Given the description of an element on the screen output the (x, y) to click on. 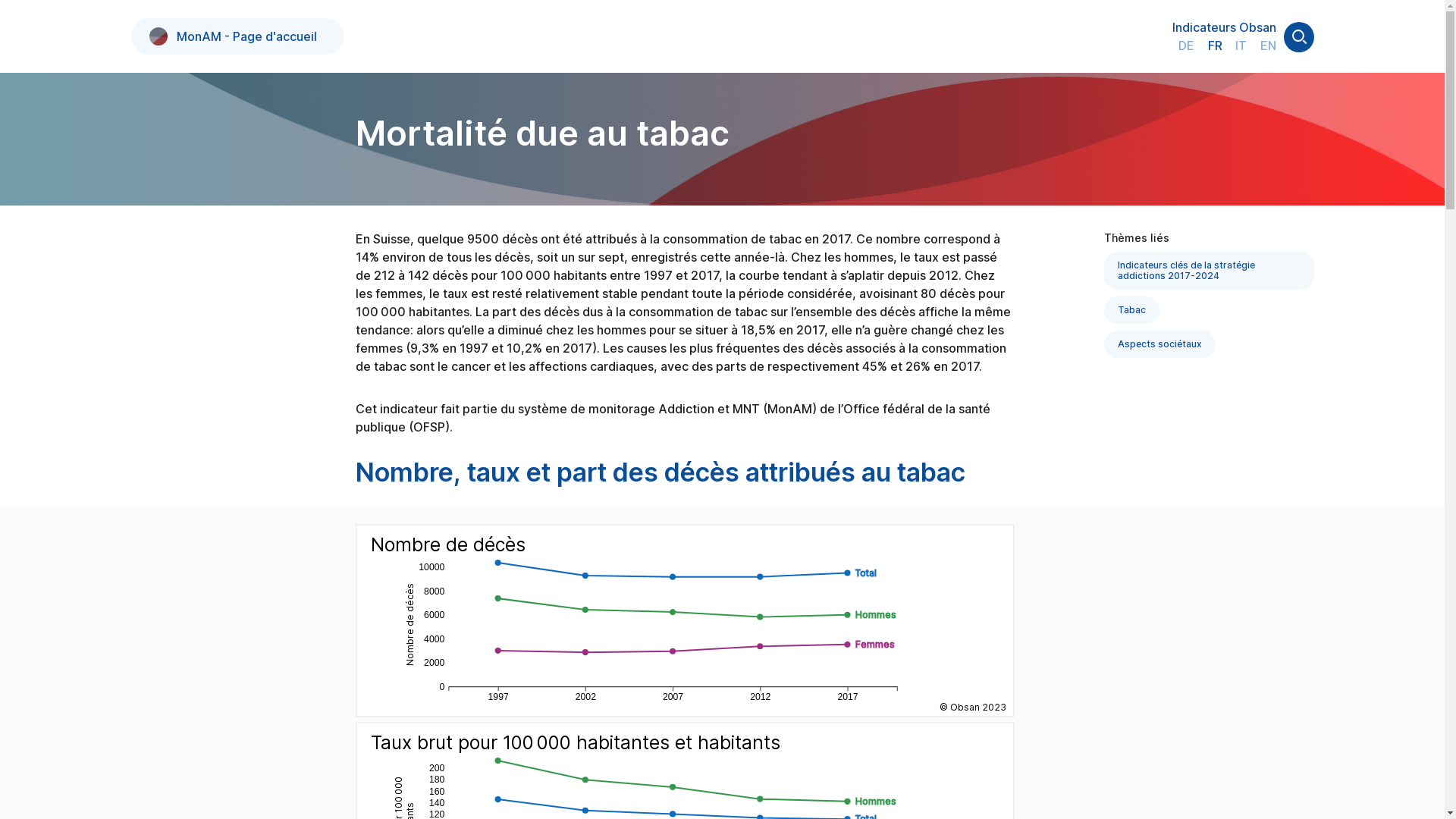
Tabac Element type: text (1131, 309)
EN Element type: text (1268, 45)
MonAM - Page d'accueil Element type: text (232, 36)
DE Element type: text (1186, 45)
IT Element type: text (1240, 45)
FR Element type: text (1215, 45)
Indicateur MonAM Element type: hover (157, 36)
Indicateurs Obsan Element type: text (1224, 26)
